Given the description of an element on the screen output the (x, y) to click on. 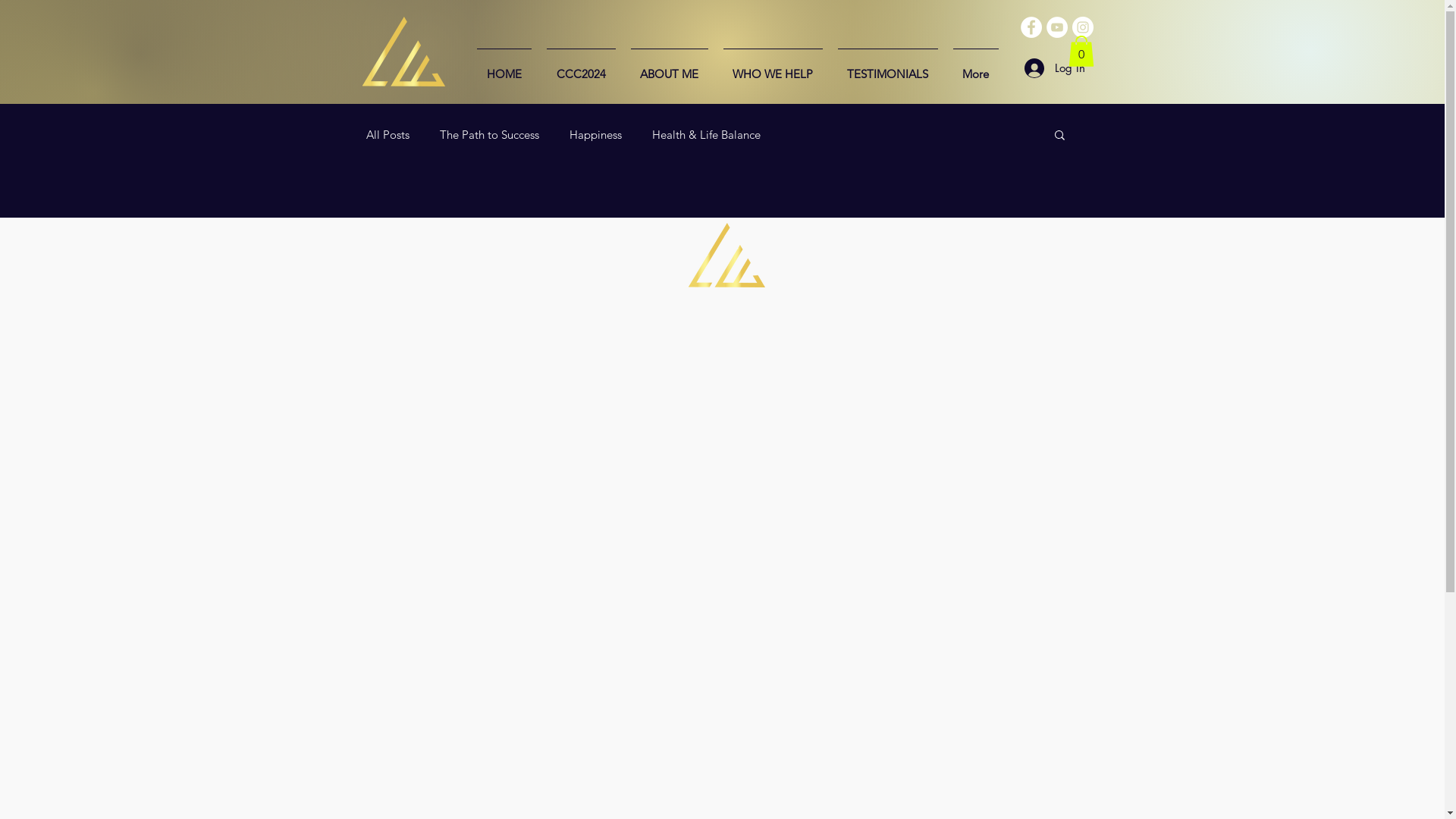
The Path to Success Element type: text (489, 134)
Happiness Element type: text (594, 134)
Log In Element type: text (1054, 67)
TESTIMONIALS Element type: text (886, 67)
All Posts Element type: text (386, 134)
ABOUT ME Element type: text (669, 67)
See More Posts Element type: text (722, 385)
WHO WE HELP Element type: text (772, 67)
HOME Element type: text (503, 67)
Health & Life Balance Element type: text (706, 134)
0 Element type: text (1080, 50)
CCC2024 Element type: text (580, 67)
